Given the description of an element on the screen output the (x, y) to click on. 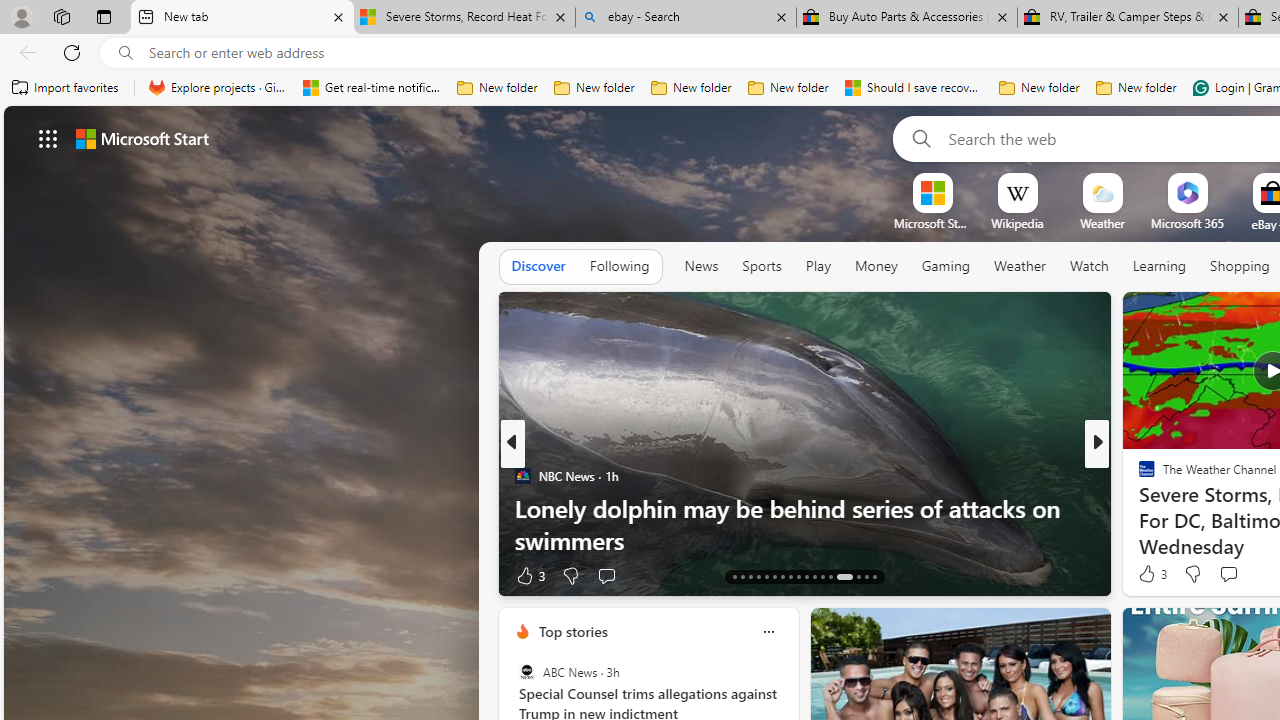
AutomationID: tab-19 (782, 576)
Class: icon-img (768, 632)
View comments 1 Comment (1234, 575)
RV, Trailer & Camper Steps & Ladders for sale | eBay (1127, 17)
AutomationID: tab-17 (765, 576)
Import favorites (65, 88)
AutomationID: tab-14 (742, 576)
Learning (1159, 267)
AutomationID: tab-13 (733, 576)
3 Like (1151, 574)
